Given the description of an element on the screen output the (x, y) to click on. 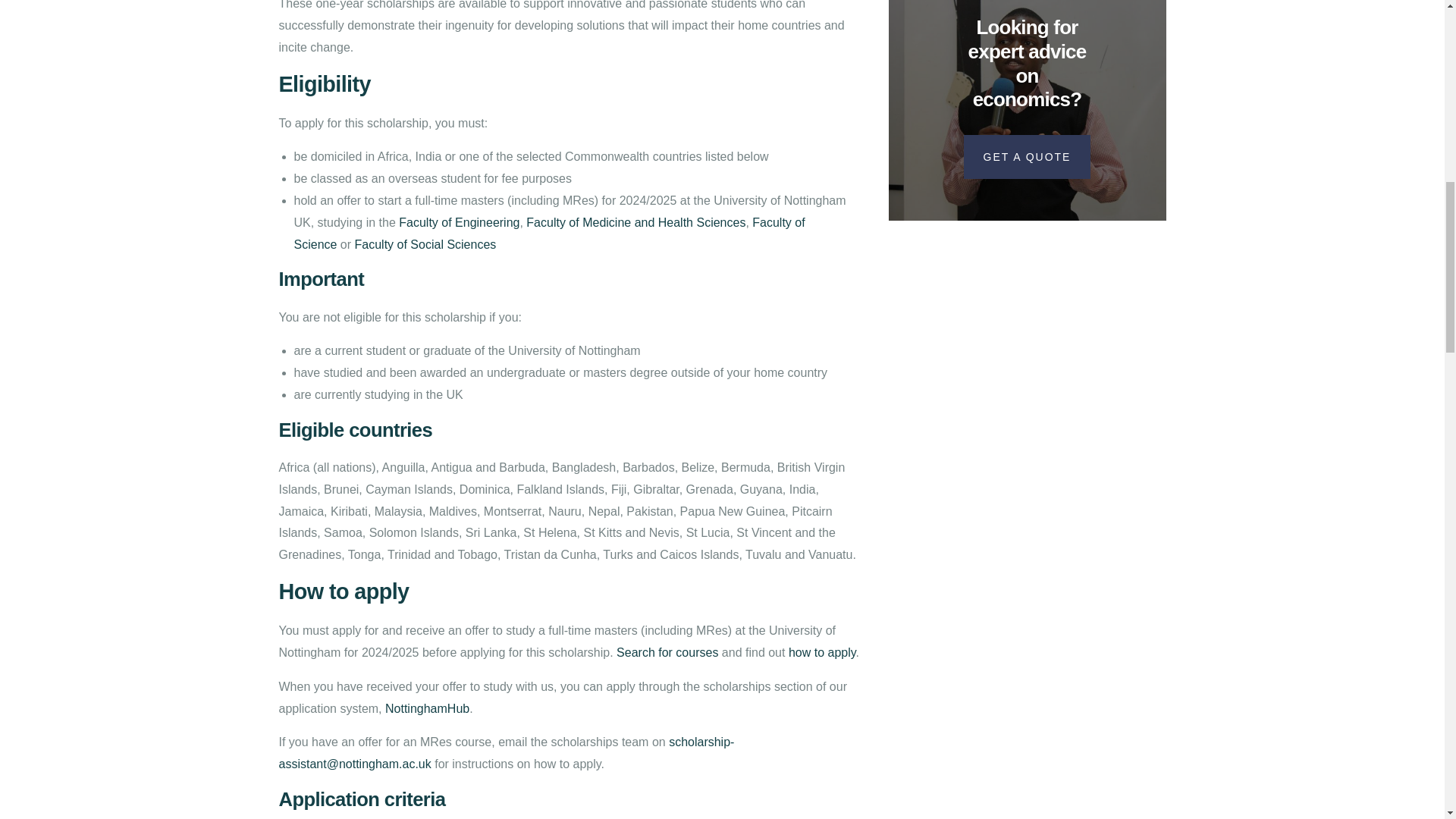
Search for courses (666, 652)
Faculty of Social Sciences (425, 244)
Faculty of Engineering (458, 222)
Faculty of Medicine and Health Sciences (635, 222)
how to apply (822, 652)
Faculty of Science (549, 233)
NottinghamHub (426, 707)
